Given the description of an element on the screen output the (x, y) to click on. 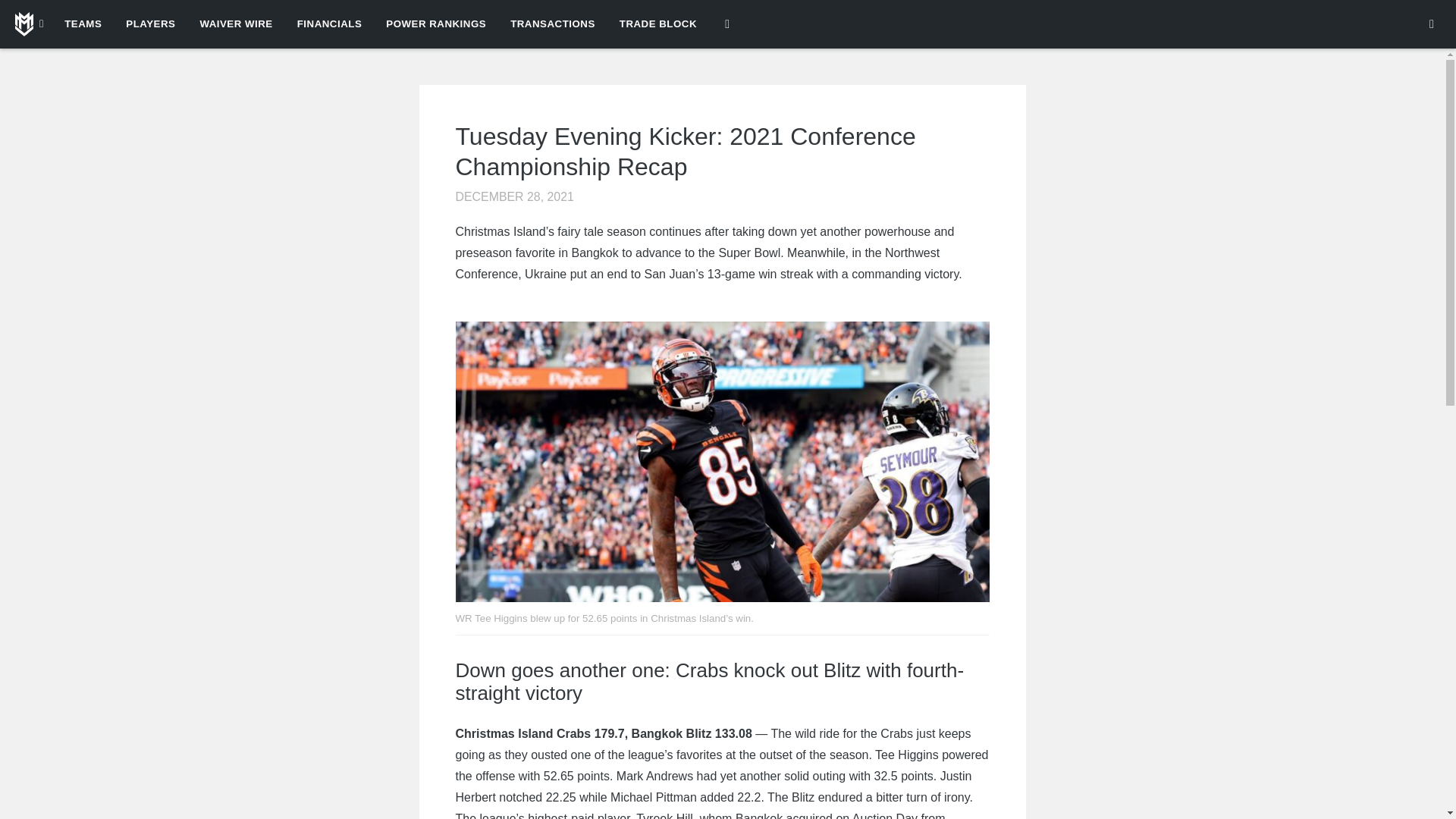
Reload Data (1431, 23)
PLAYERS (150, 23)
FINANCIALS (329, 23)
POWER RANKINGS (435, 23)
TEAMS (82, 23)
WAIVER WIRE (235, 23)
McHenry Fantasy Football League teams (28, 23)
TRADE BLOCK (658, 23)
TRANSACTIONS (552, 23)
